Given the description of an element on the screen output the (x, y) to click on. 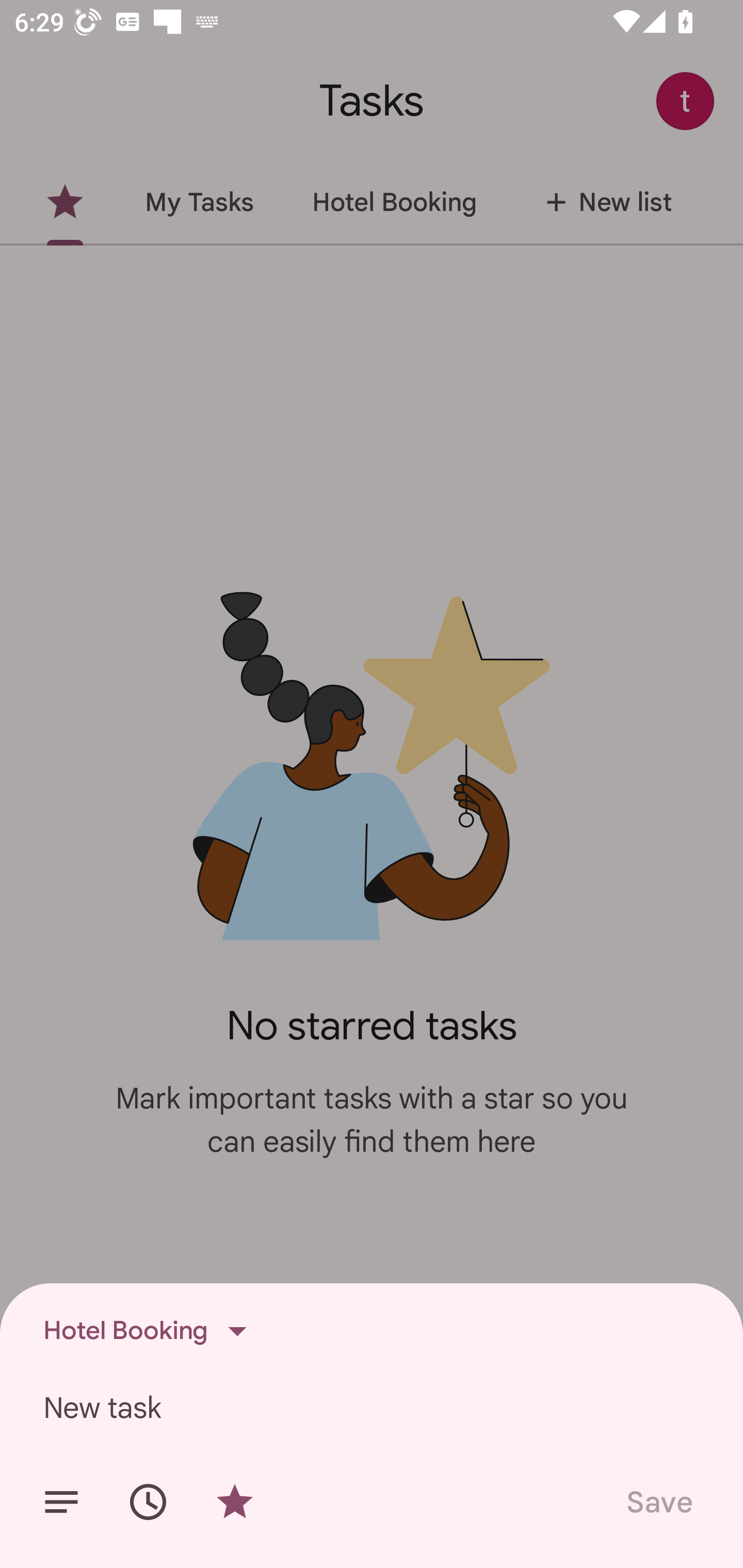
Hotel Booking List, Hotel Booking selected, 1 of 2 (151, 1331)
New task (371, 1407)
Save (659, 1501)
Add details (60, 1501)
Set date/time (147, 1501)
Starred (234, 1501)
